Given the description of an element on the screen output the (x, y) to click on. 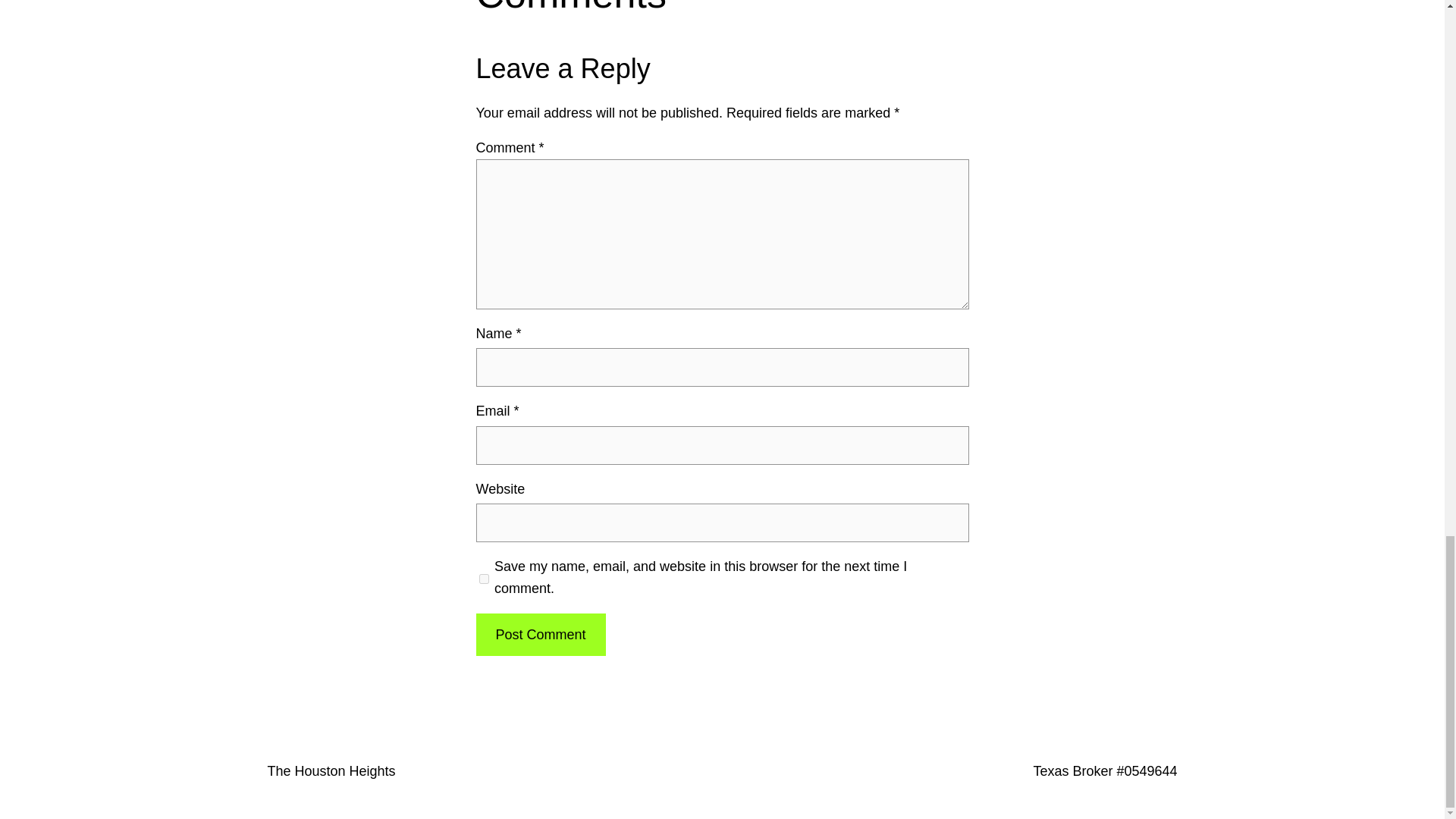
The Houston Heights (330, 770)
yes (484, 578)
Post Comment (540, 634)
Post Comment (540, 634)
